Given the description of an element on the screen output the (x, y) to click on. 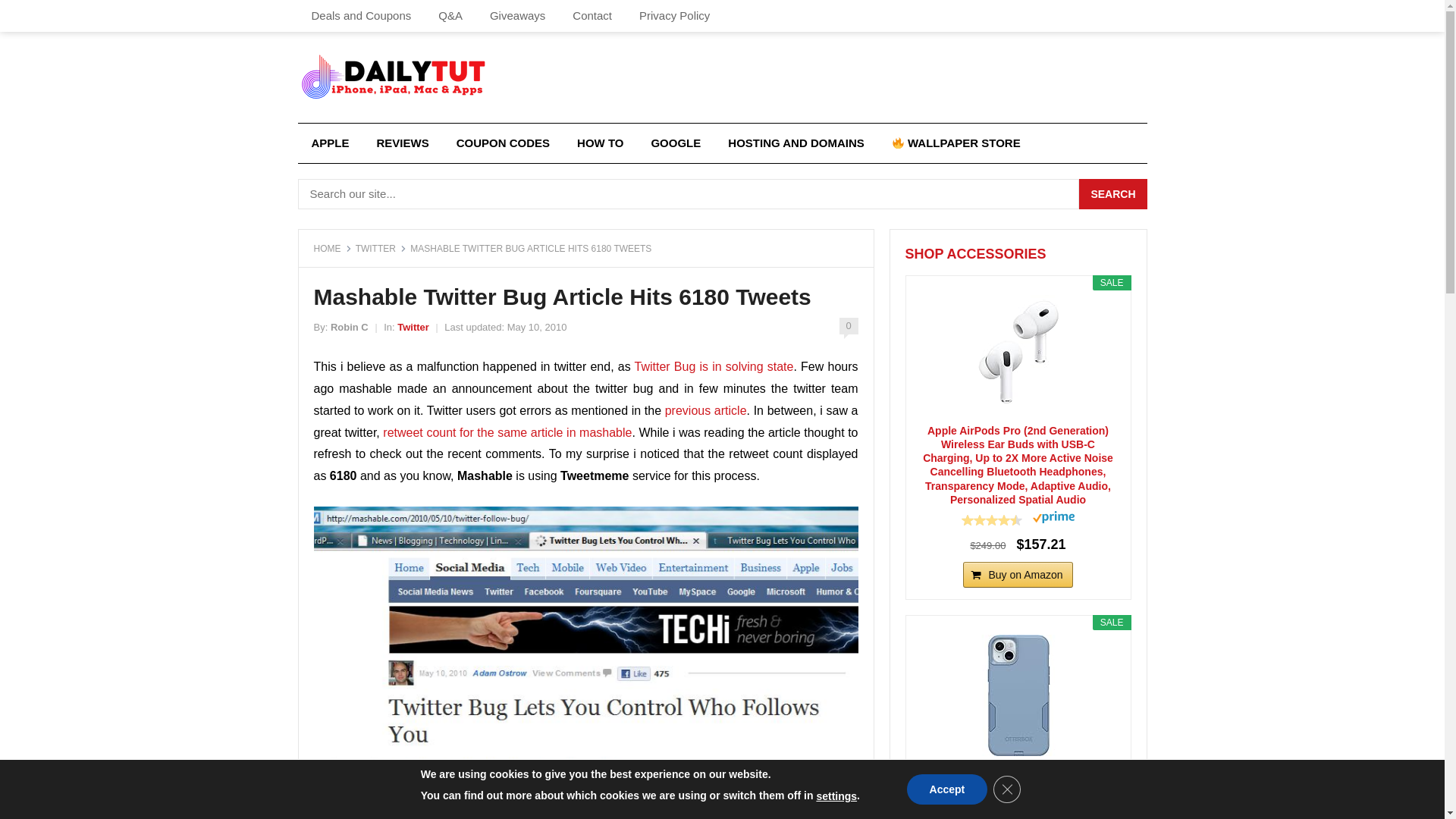
retweet count for the same article in mashable (506, 431)
View all posts in Twitter (413, 326)
HOW TO (600, 142)
Google (675, 142)
COUPON CODES (502, 142)
Search (1112, 194)
Giveaways (517, 15)
Twitter Bug is in solving state (713, 366)
HOME (333, 248)
Search (1112, 194)
0 (847, 325)
Privacy Policy (674, 15)
Robin C (349, 326)
WALLPAPER STORE (955, 142)
Twitter (413, 326)
